Given the description of an element on the screen output the (x, y) to click on. 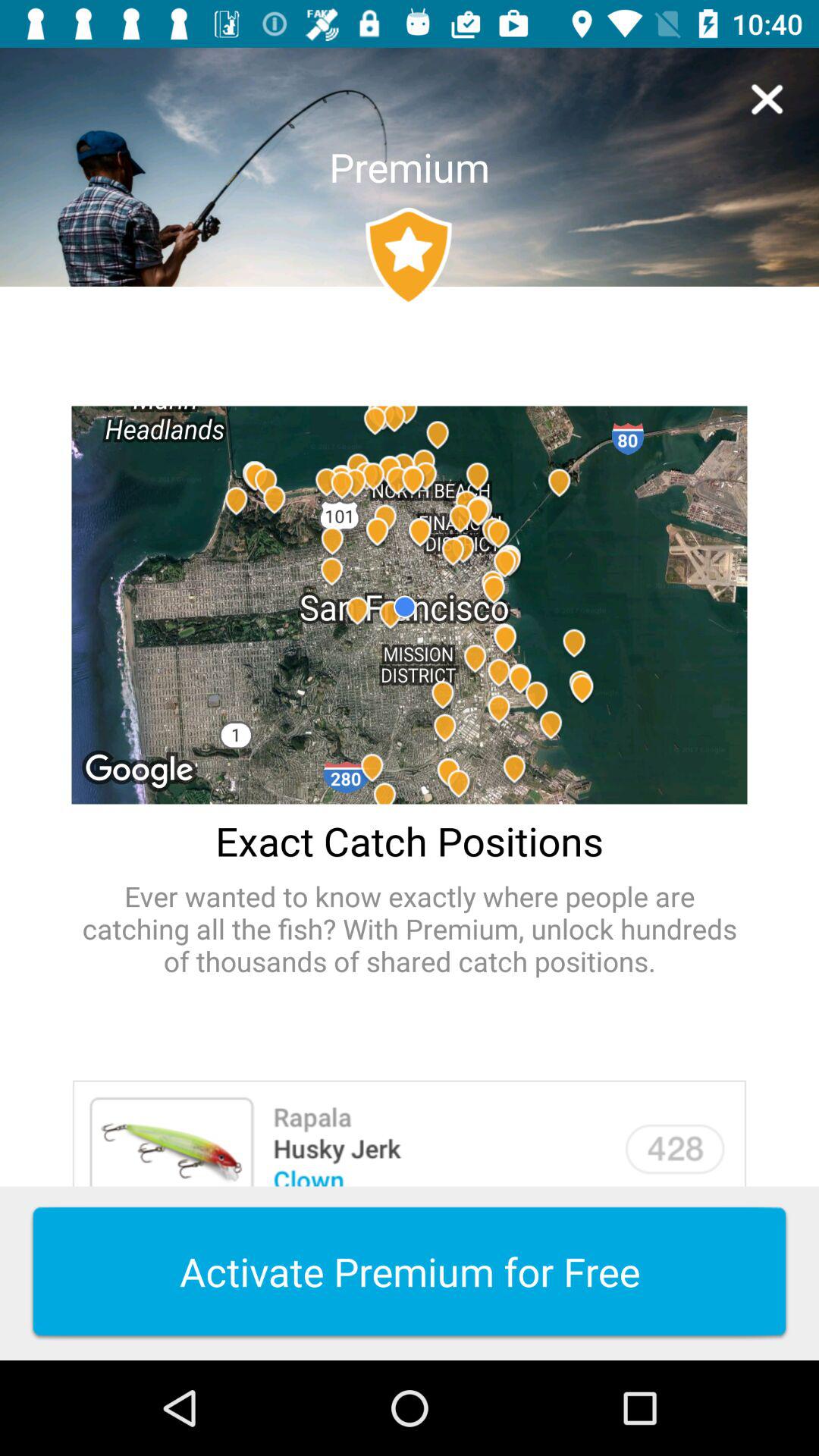
exit page (767, 99)
